Given the description of an element on the screen output the (x, y) to click on. 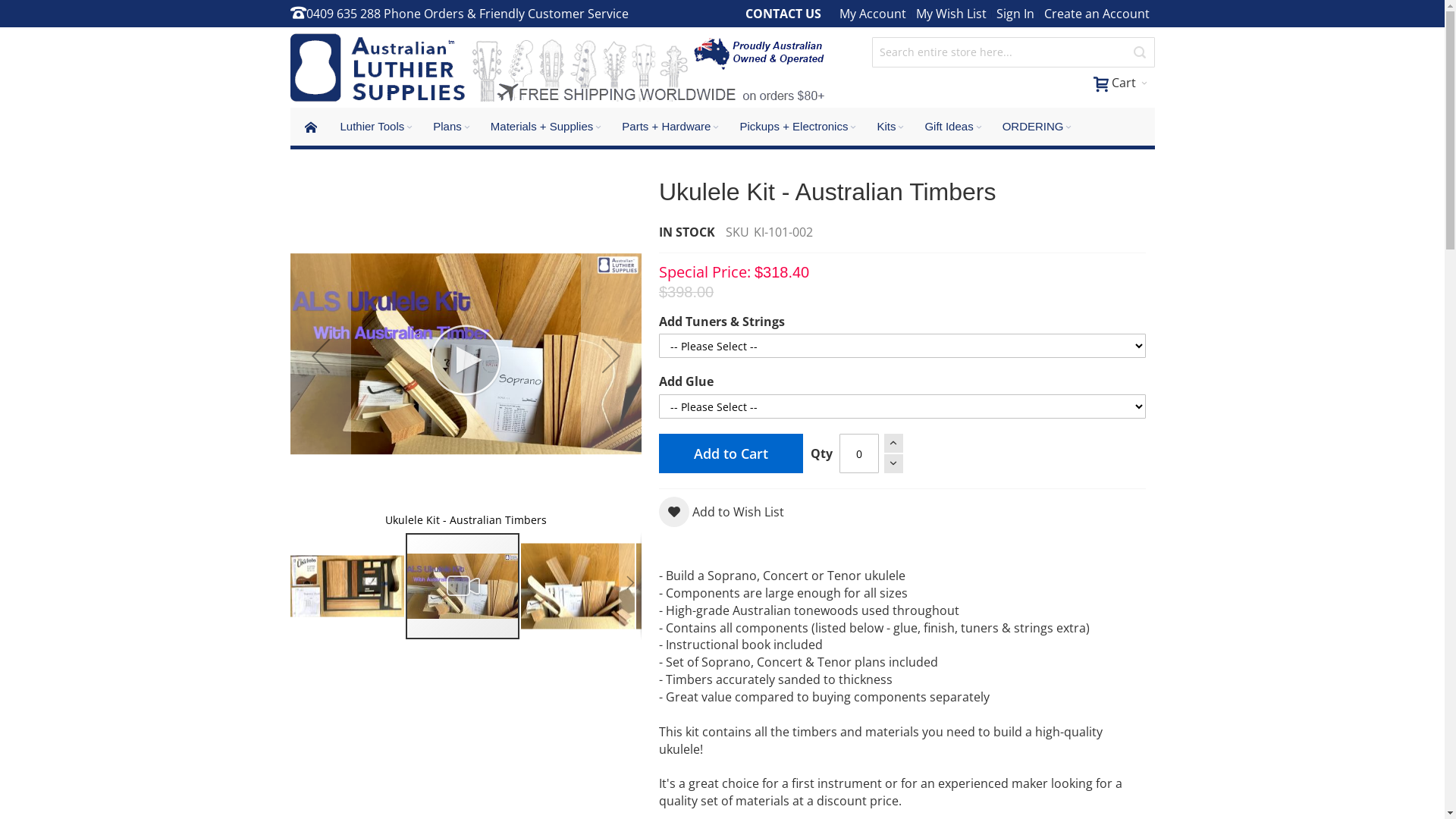
Australian Luthier Supplies Element type: hover (558, 67)
Sign In Element type: text (1014, 13)
ORDERING Element type: text (1038, 126)
Add to Cart Element type: text (730, 453)
CONTACT US Element type: text (783, 13)
Plans Element type: text (452, 126)
Materials + Supplies Element type: text (546, 126)
Qty Element type: hover (858, 453)
Search Element type: hover (1139, 51)
Add to Wish List Element type: text (721, 511)
My Account Element type: text (872, 13)
Luthier Tools Element type: text (376, 126)
Kits Element type: text (891, 126)
Create an Account Element type: text (1096, 13)
Skip to the end of the images gallery Element type: text (289, 178)
My Wish List Element type: text (950, 13)
Gift Ideas Element type: text (953, 126)
Skip to the beginning of the images gallery Element type: text (289, 640)
Pickups + Electronics Element type: text (798, 126)
Parts + Hardware Element type: text (671, 126)
